Given the description of an element on the screen output the (x, y) to click on. 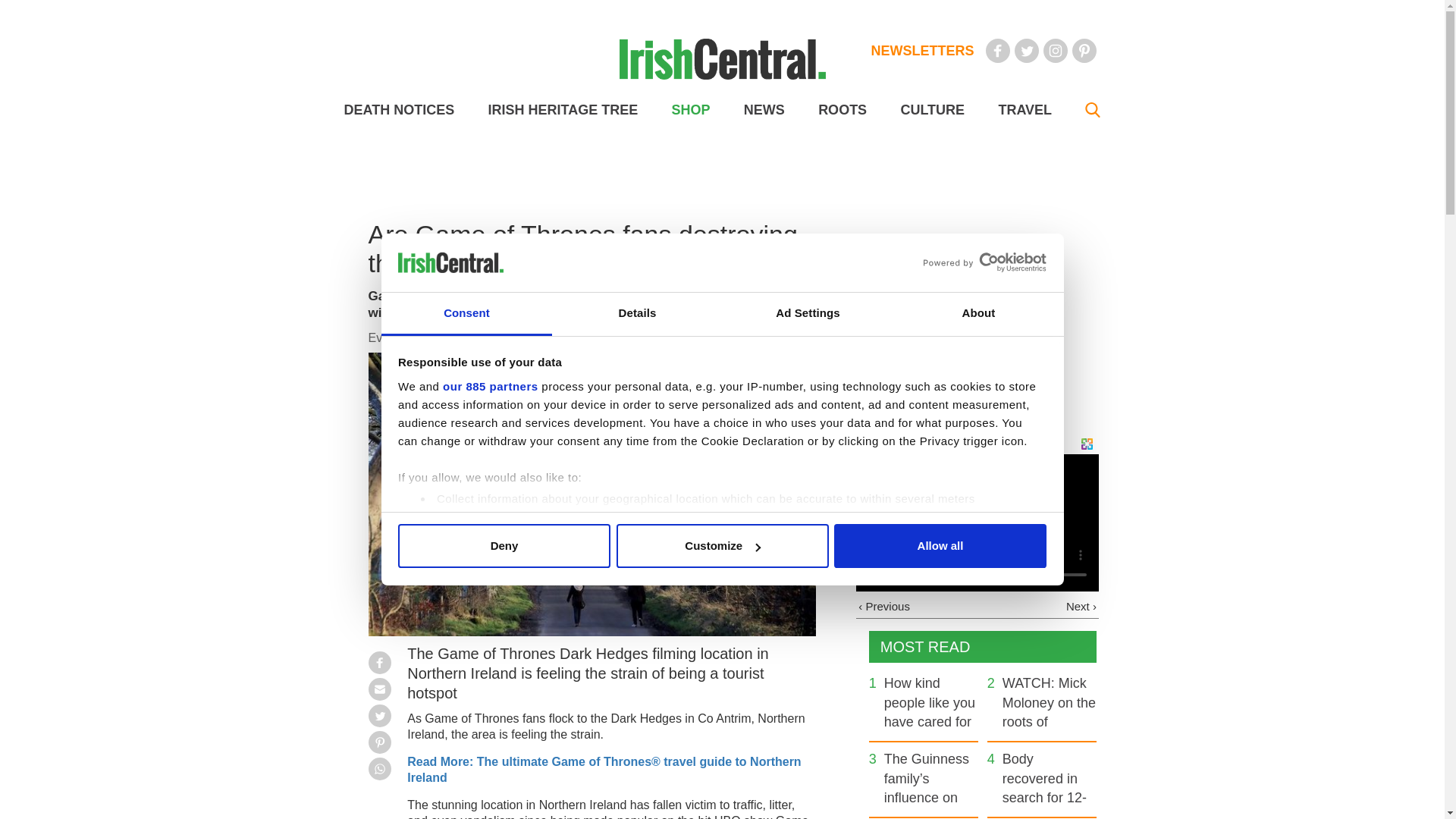
Ad Settings (807, 313)
Consent (465, 313)
About (978, 313)
Details (636, 313)
details section (927, 536)
our 885 partners (490, 386)
